Given the description of an element on the screen output the (x, y) to click on. 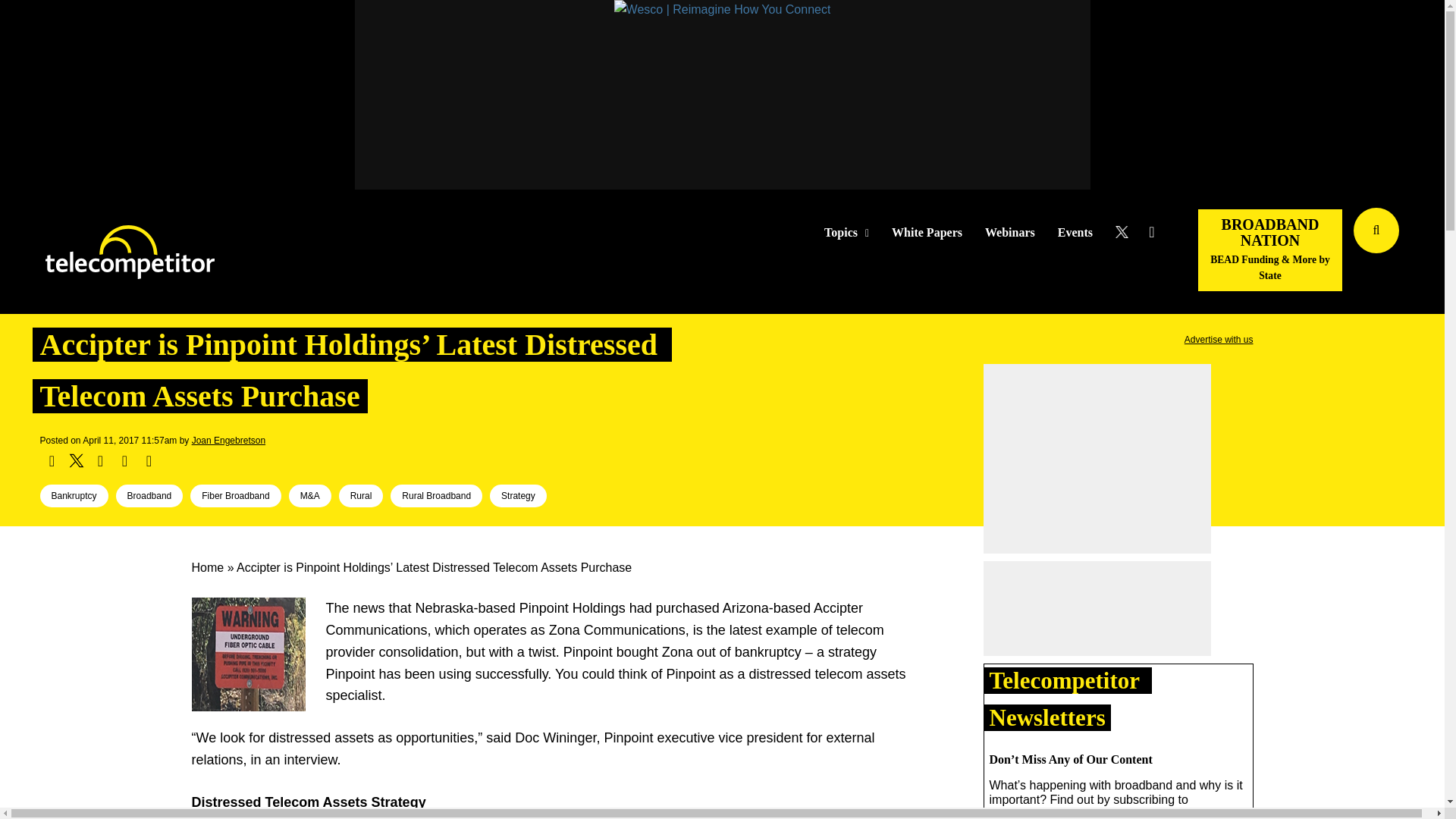
Spread the word on Twitter (75, 460)
Search telecompetitor.com (1376, 230)
White Papers (927, 232)
Share on Linked In (99, 460)
Webinars (1010, 232)
Pinterest (124, 460)
Share on Facebook (51, 460)
Search (1430, 253)
Follow Us on Twitter (1127, 232)
Follow Us on LinkedIN (1151, 232)
